Given the description of an element on the screen output the (x, y) to click on. 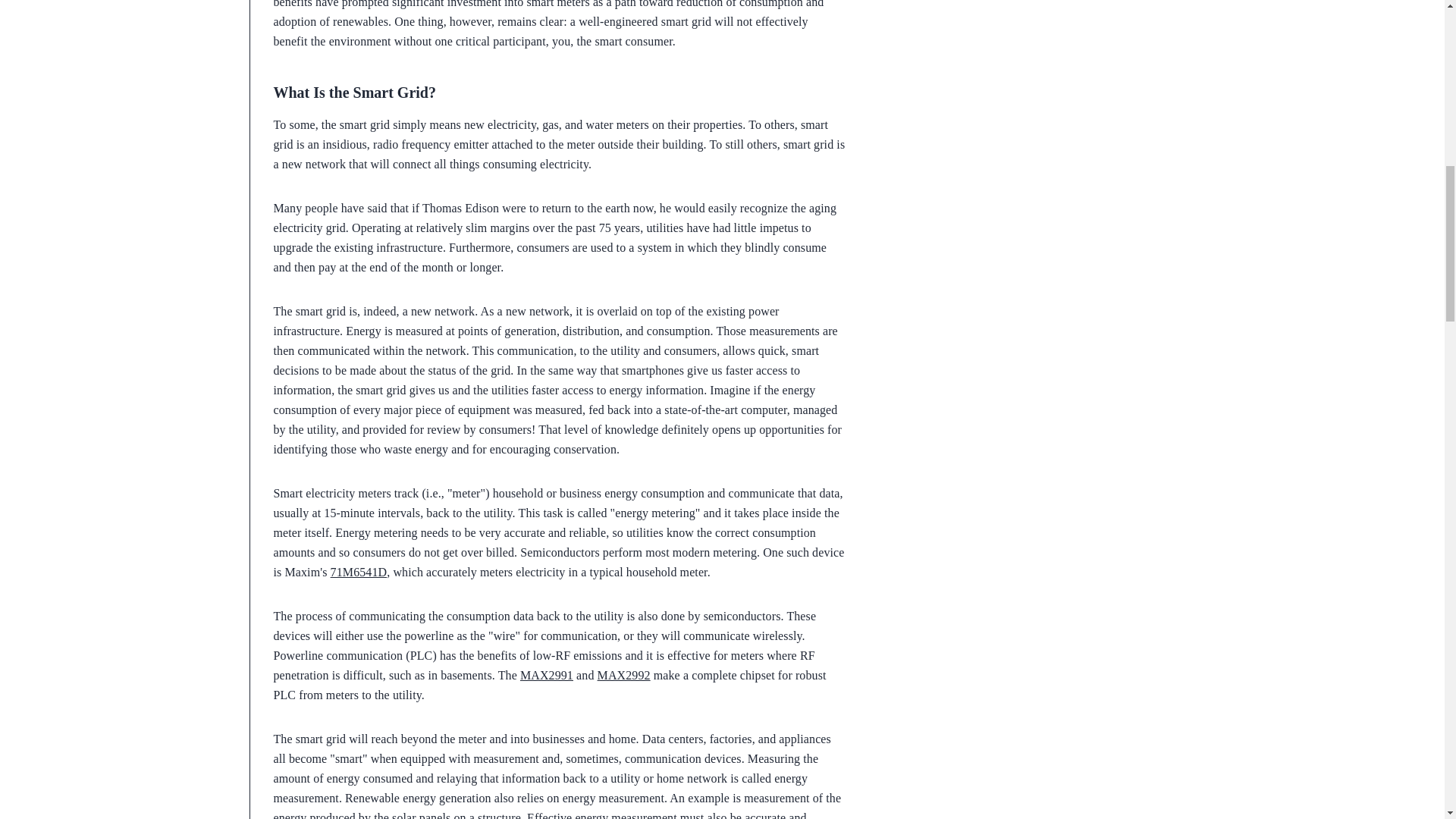
MAX2992 (623, 675)
71M6541D (358, 571)
MAX2991 (546, 675)
